Given the description of an element on the screen output the (x, y) to click on. 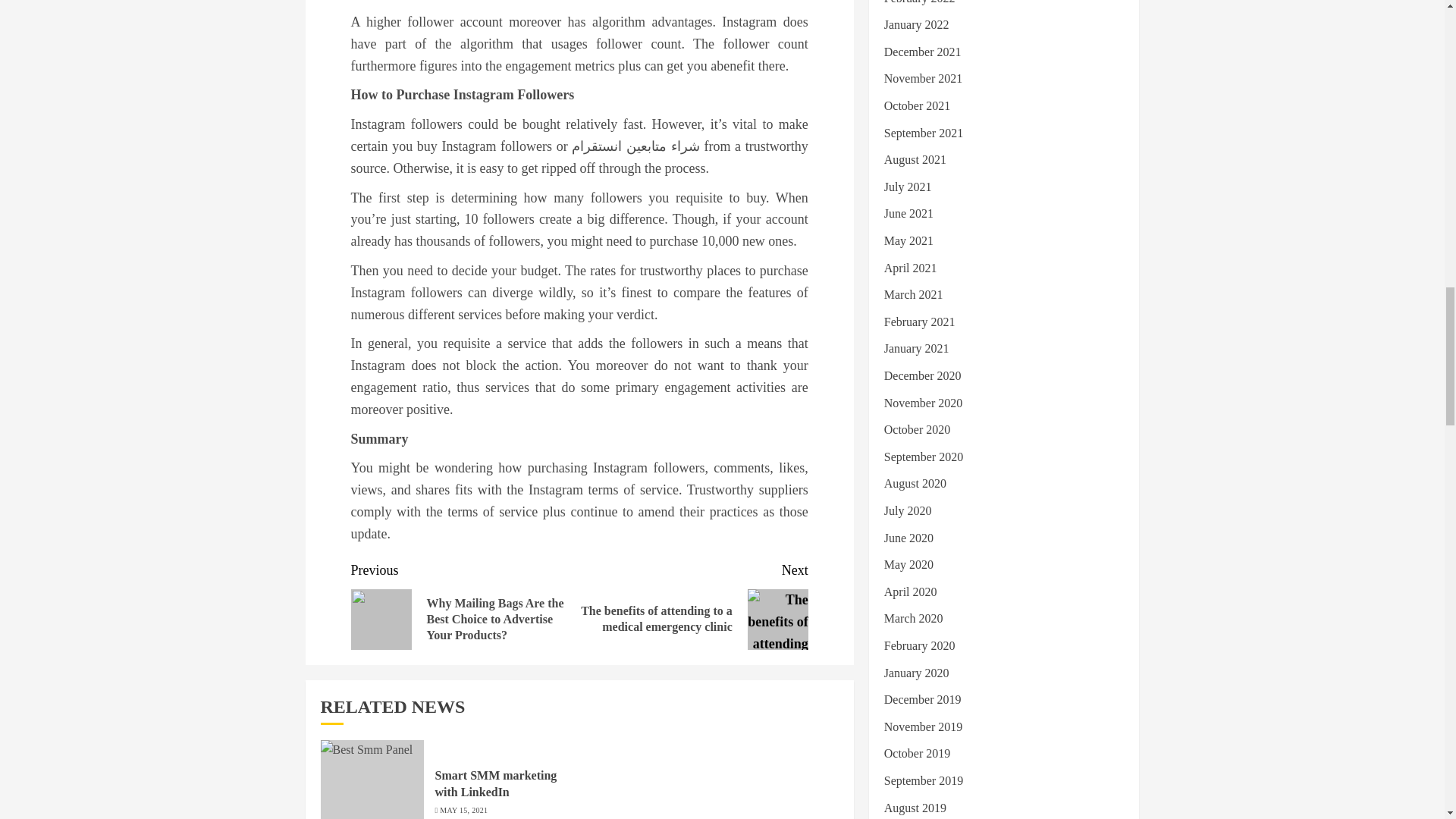
MAY 15, 2021 (463, 810)
Smart SMM marketing with LinkedIn (496, 784)
